Given the description of an element on the screen output the (x, y) to click on. 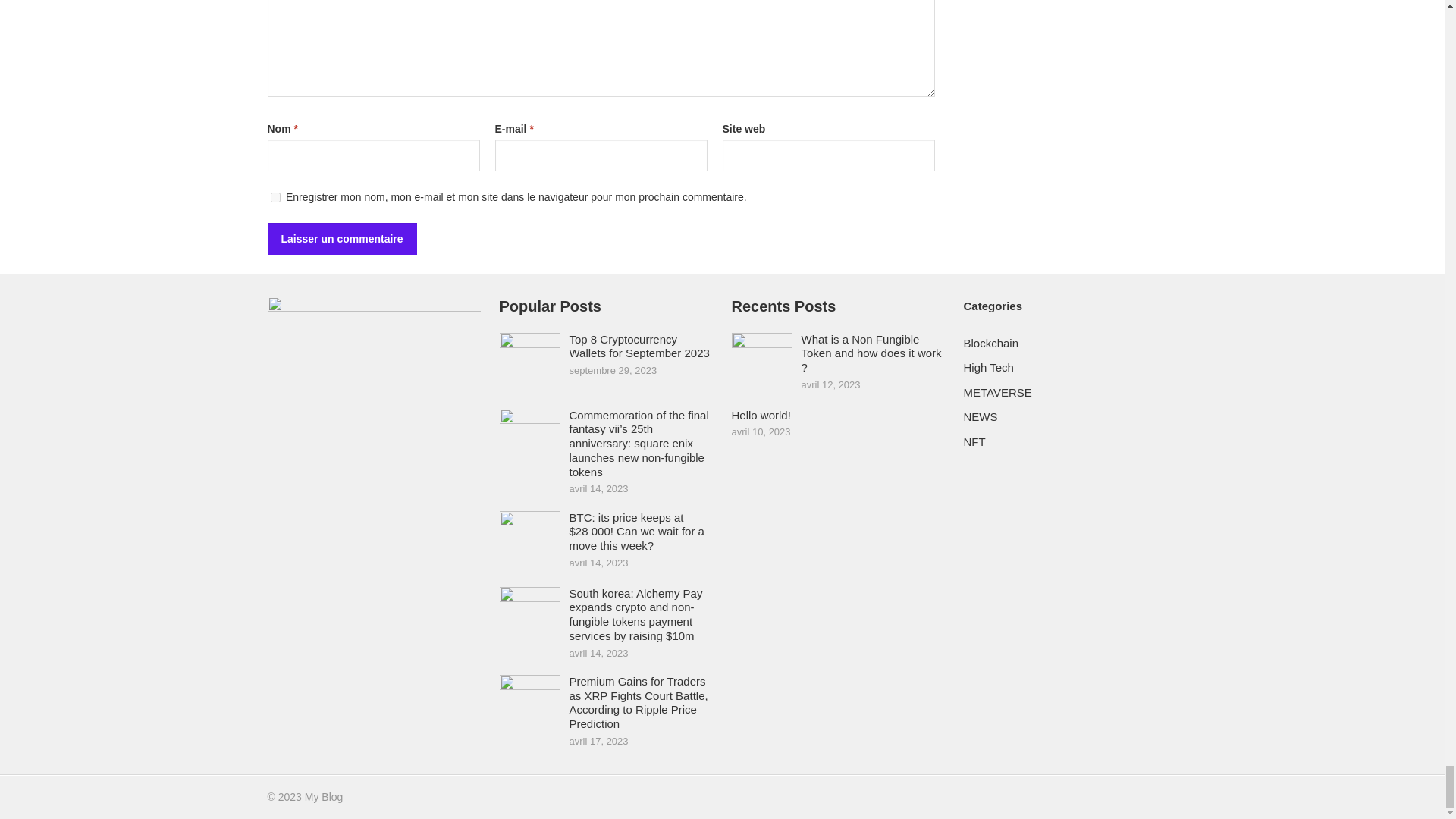
Laisser un commentaire (341, 238)
yes (274, 197)
Laisser un commentaire (341, 238)
